Given the description of an element on the screen output the (x, y) to click on. 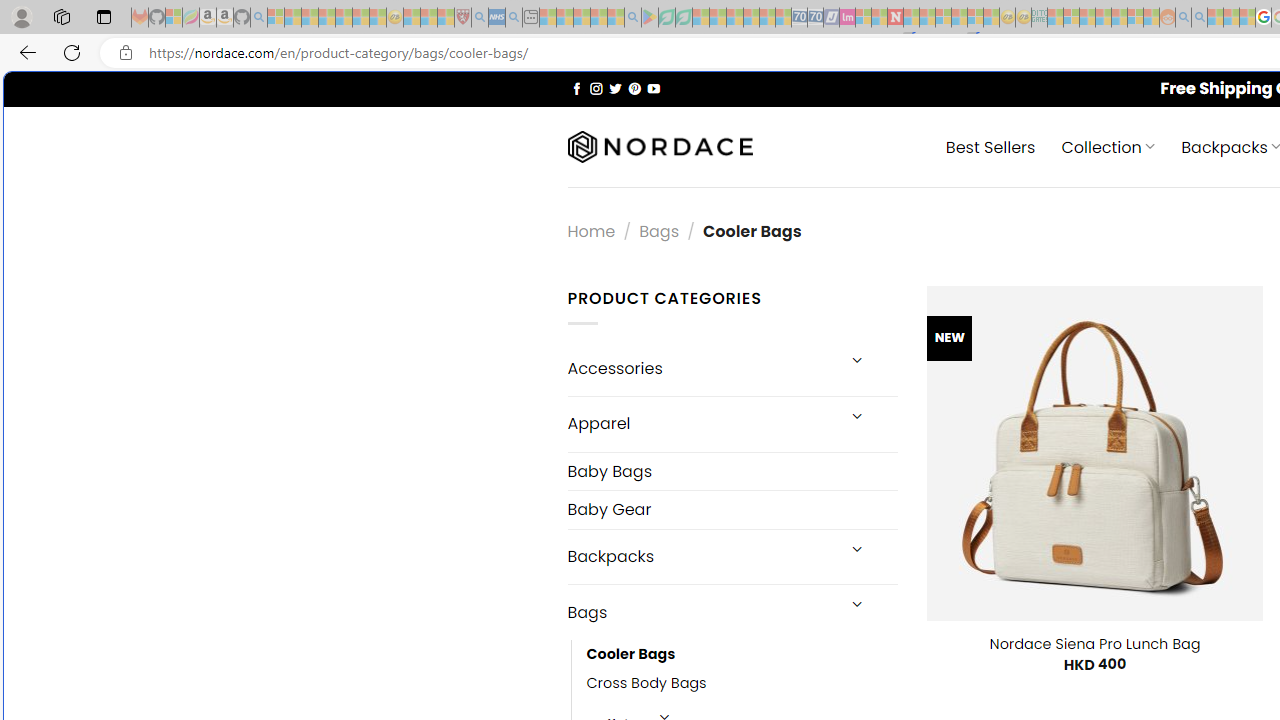
Follow on Twitter (615, 88)
Baby Bags (732, 471)
 Best Sellers (989, 146)
